Given the description of an element on the screen output the (x, y) to click on. 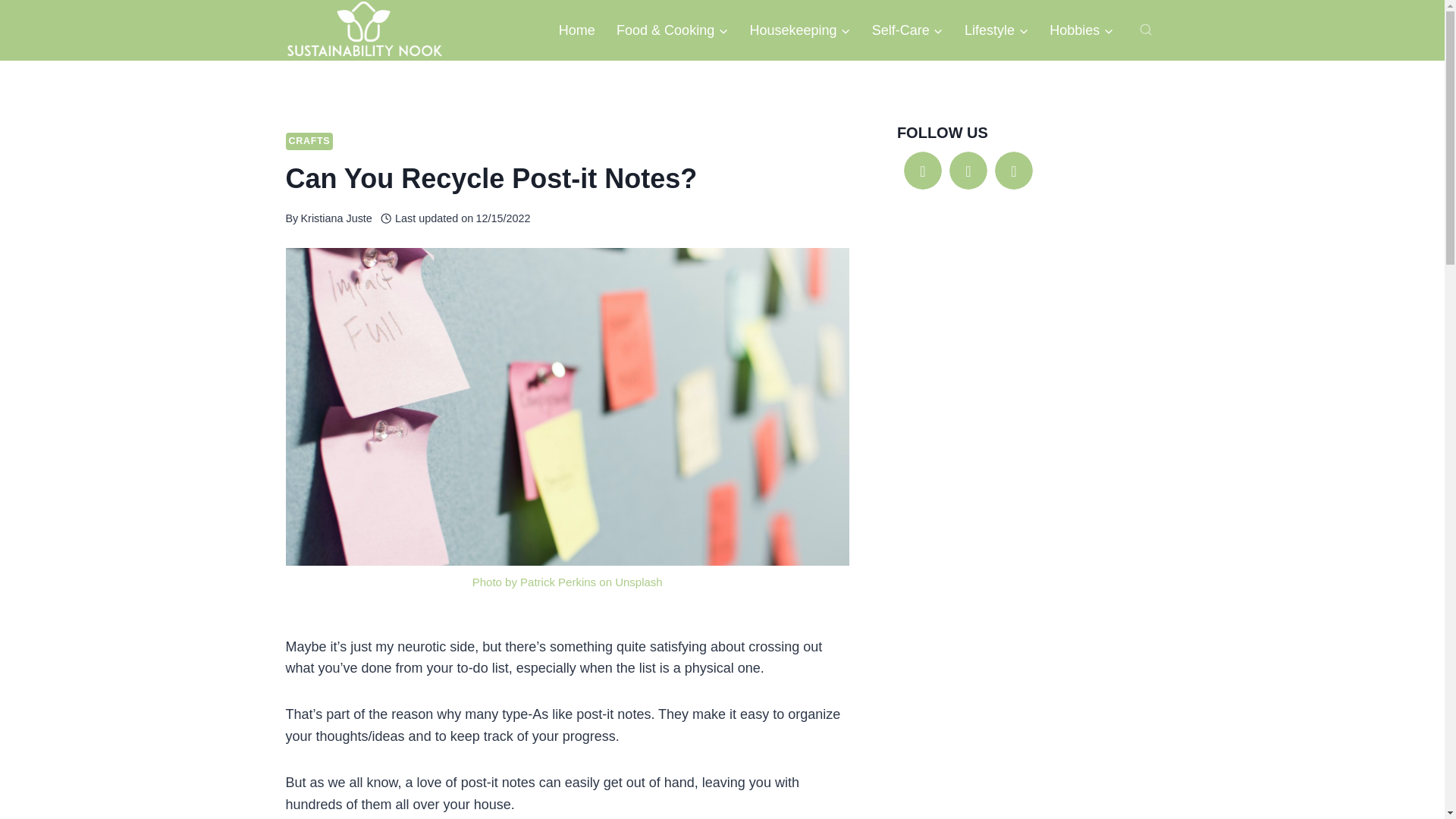
Lifestyle (996, 30)
Self-Care (907, 30)
Housekeeping (799, 30)
Home (576, 30)
